Given the description of an element on the screen output the (x, y) to click on. 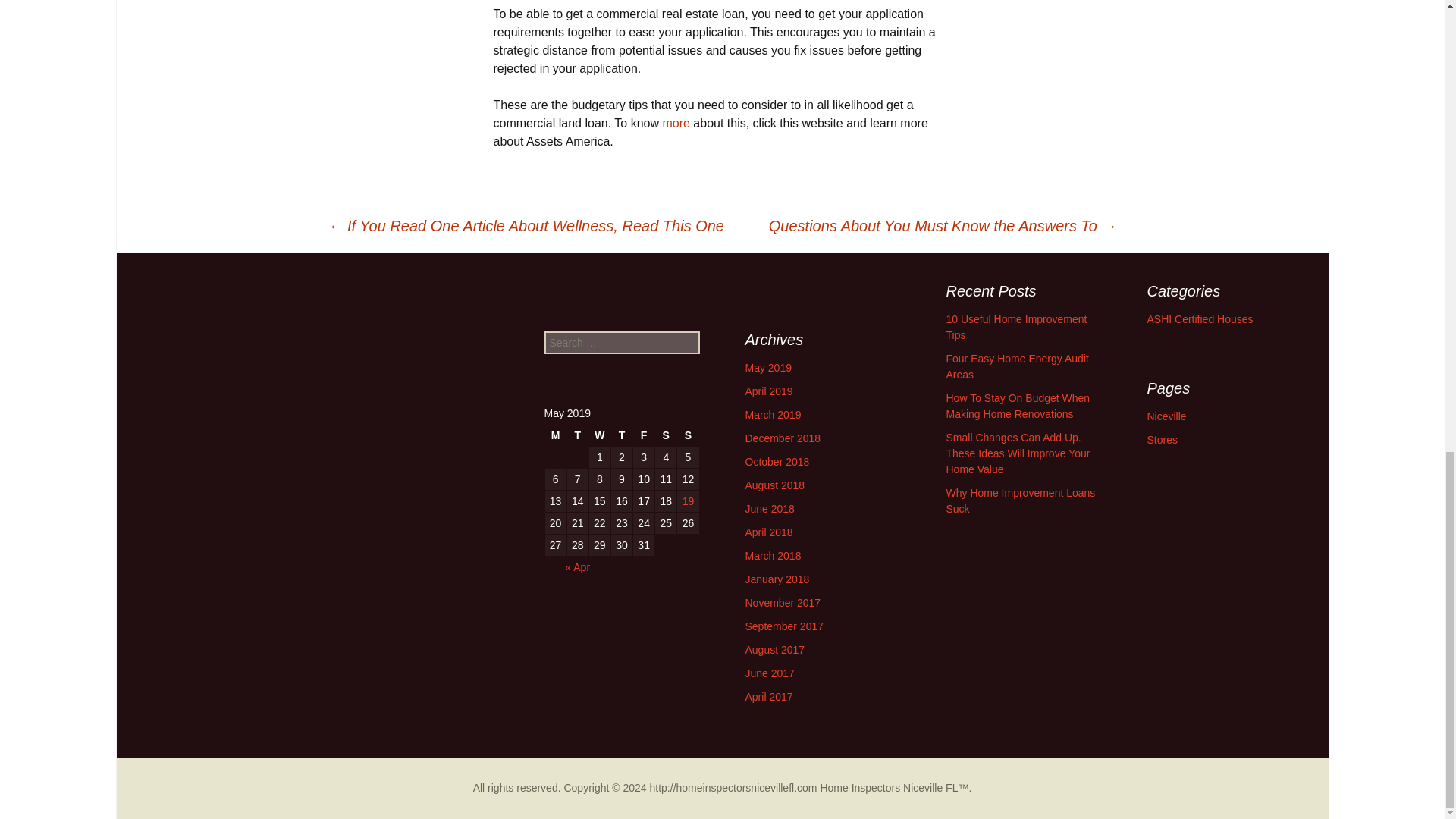
Saturday (666, 435)
Home Inspectors Niceville FL (888, 787)
more (677, 123)
December 2018 (782, 438)
June 2018 (768, 508)
April 2019 (768, 390)
November 2017 (782, 603)
Stores (1161, 439)
March 2019 (772, 414)
Thursday (621, 435)
September 2017 (784, 625)
April 2017 (768, 696)
Four Easy Home Energy Audit Areas (1017, 366)
October 2018 (776, 461)
Friday (643, 435)
